Given the description of an element on the screen output the (x, y) to click on. 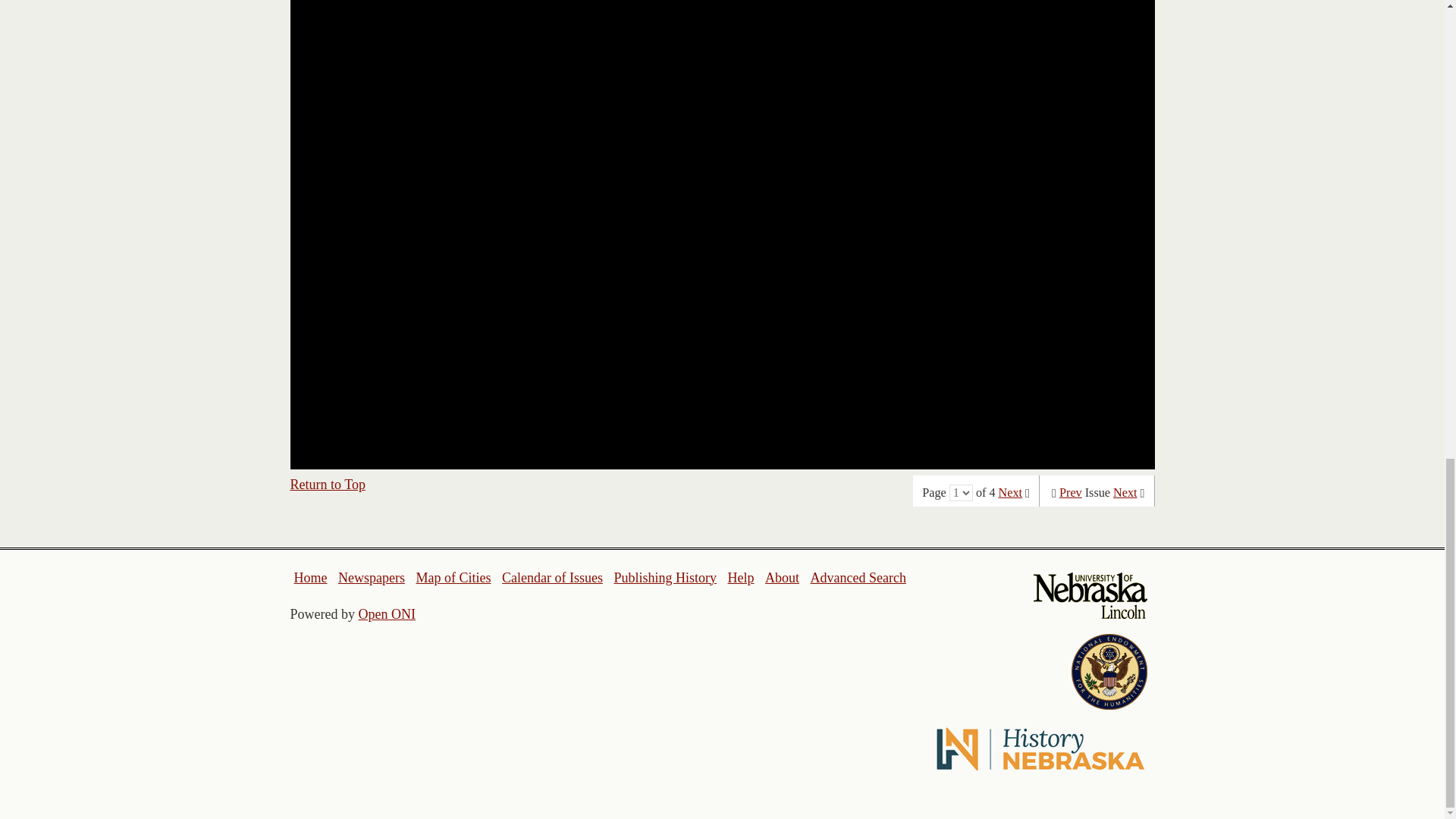
Home (310, 577)
Newspapers (370, 577)
Open ONI (386, 613)
Prev (1070, 492)
Calendar of Issues (552, 577)
About (782, 577)
Advanced Search (857, 577)
Help (740, 577)
Publishing History (664, 577)
Next (1125, 492)
Return to Top (327, 484)
Map of Cities (452, 577)
Next (1010, 492)
